Given the description of an element on the screen output the (x, y) to click on. 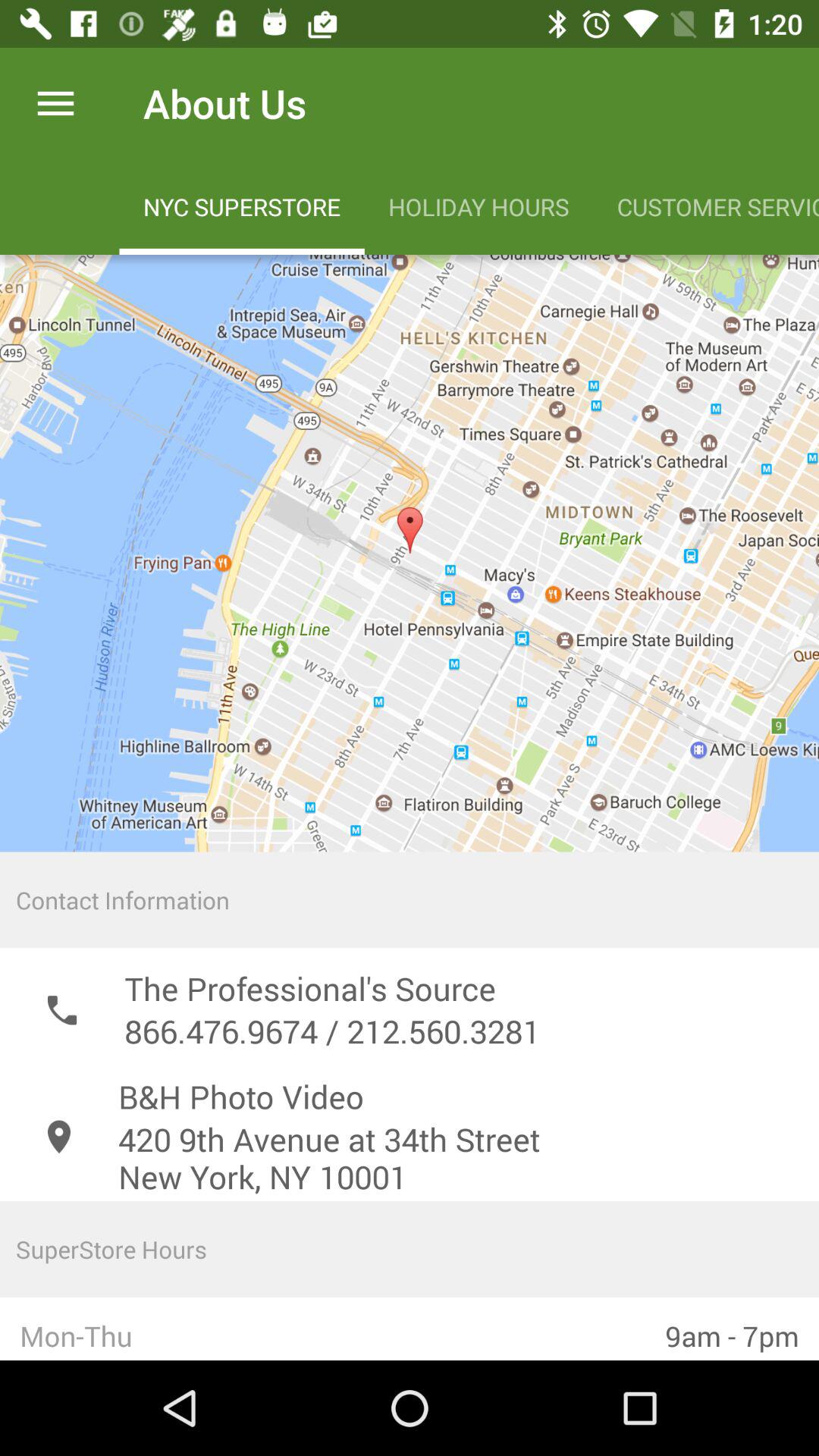
enlarge maps (409, 552)
